Given the description of an element on the screen output the (x, y) to click on. 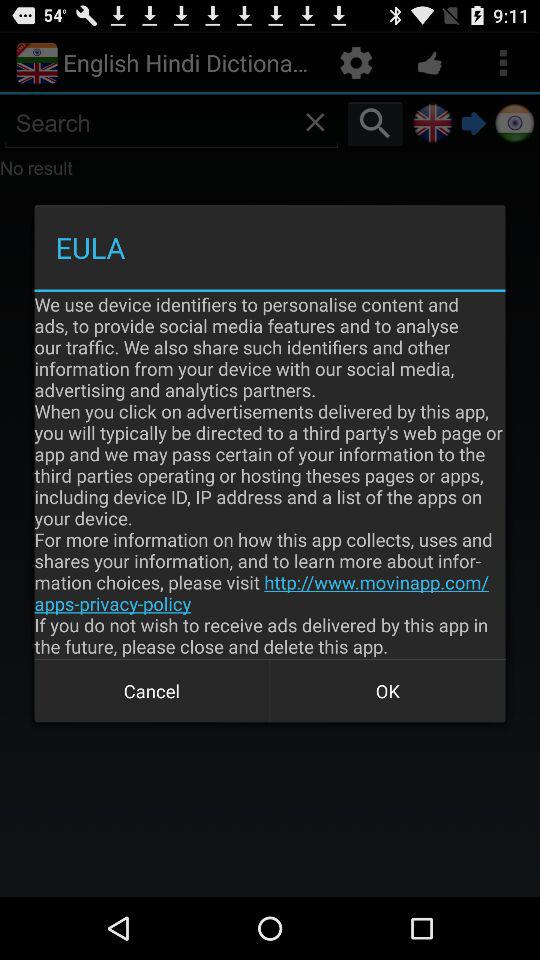
select the button next to cancel item (387, 690)
